Given the description of an element on the screen output the (x, y) to click on. 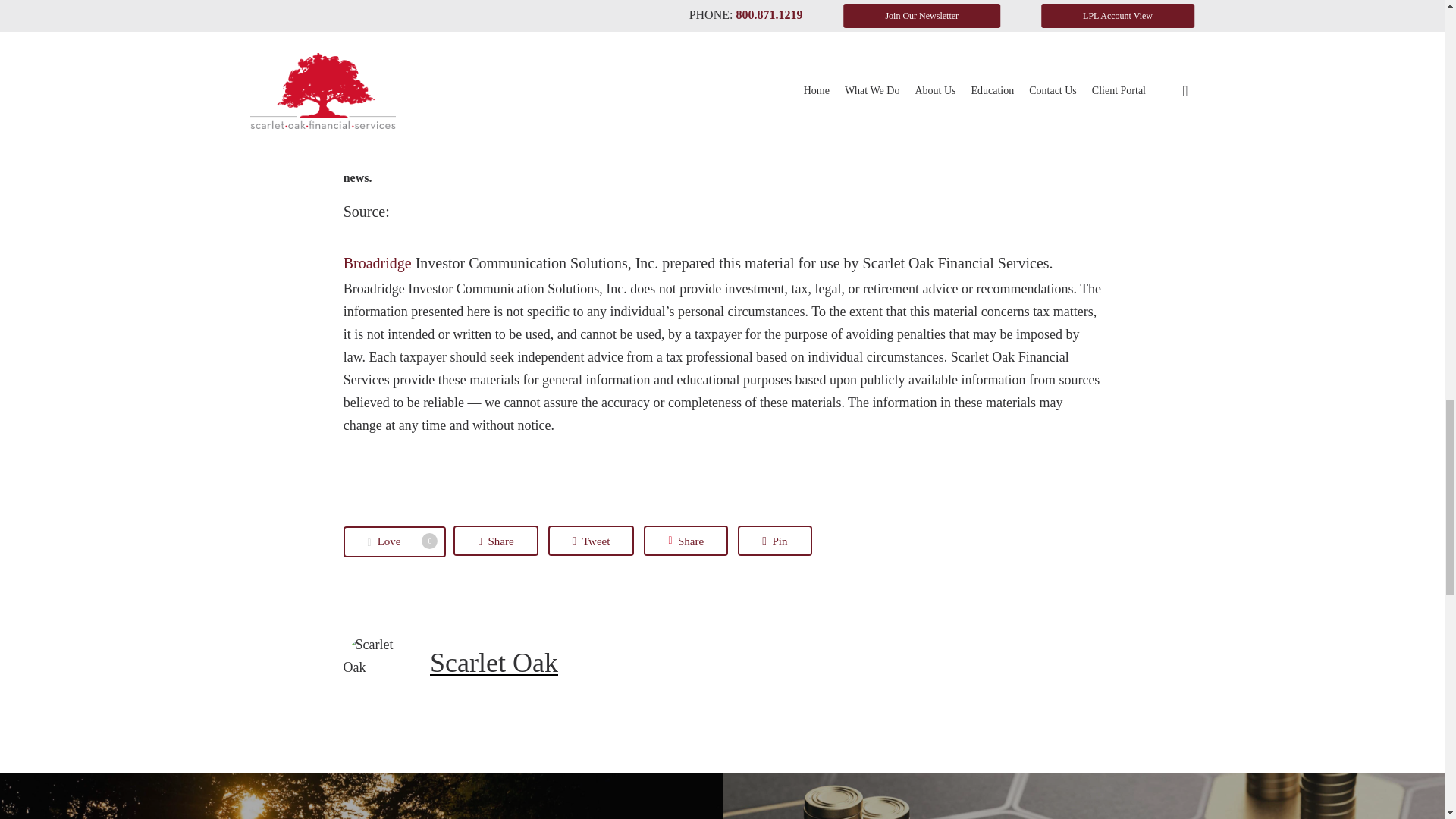
Share this (685, 540)
Pin this (774, 540)
Love this (393, 541)
Tweet this (591, 540)
Share this (494, 540)
